Given the description of an element on the screen output the (x, y) to click on. 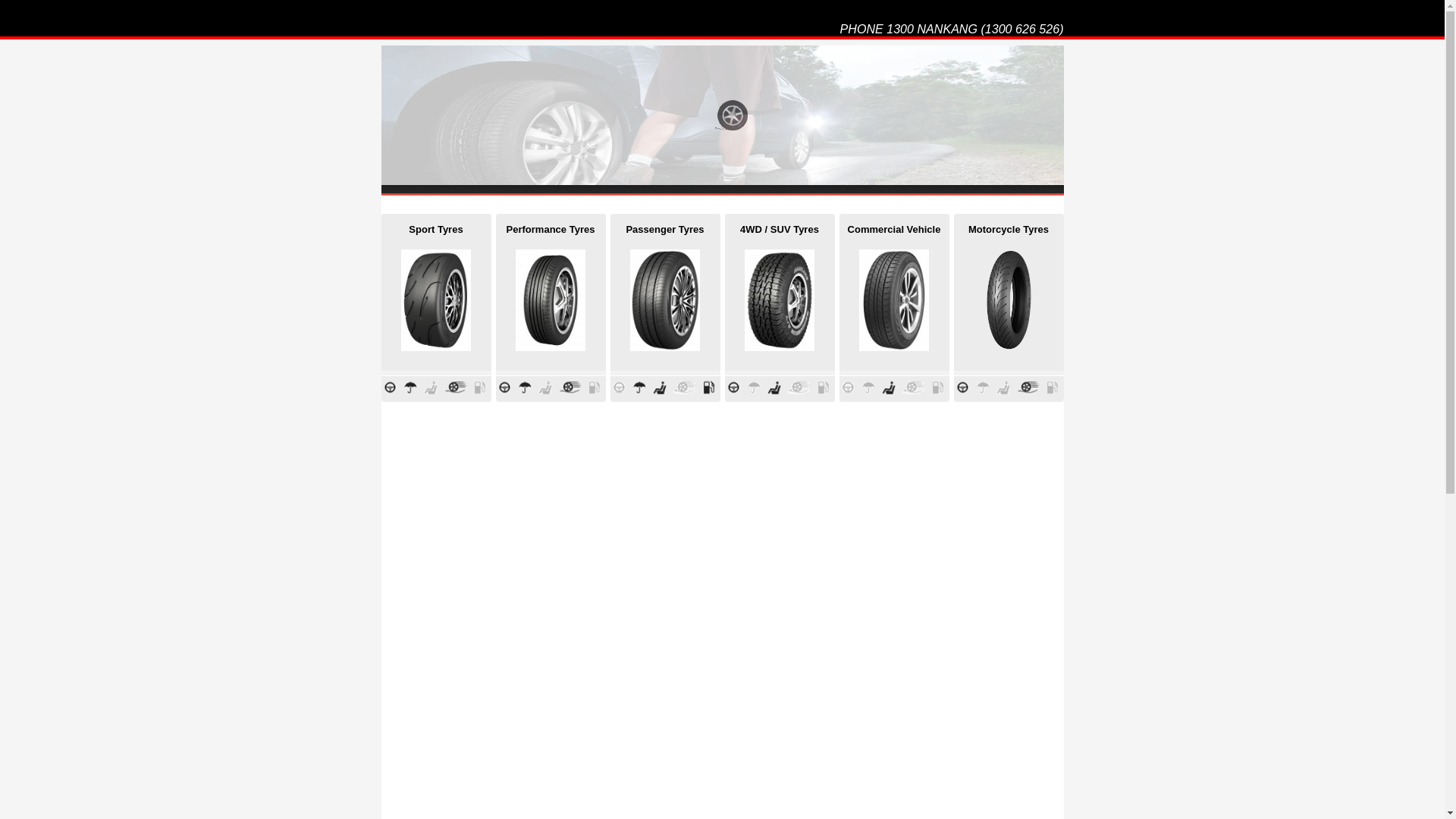
Performance Element type: hover (455, 390)
Handling Element type: hover (733, 390)
Handling Element type: hover (504, 390)
Comfort Element type: hover (774, 390)
Comfort Element type: hover (660, 390)
Handling Element type: hover (962, 390)
Wet Weather Superiority Element type: hover (410, 390)
Handling Element type: hover (389, 390)
Economy Element type: hover (709, 390)
Comfort Element type: hover (889, 390)
Performance Element type: hover (570, 390)
Wet Weather Superiority Element type: hover (525, 390)
Wet Weather Superiority Element type: hover (639, 390)
Performance Element type: hover (1028, 390)
